Given the description of an element on the screen output the (x, y) to click on. 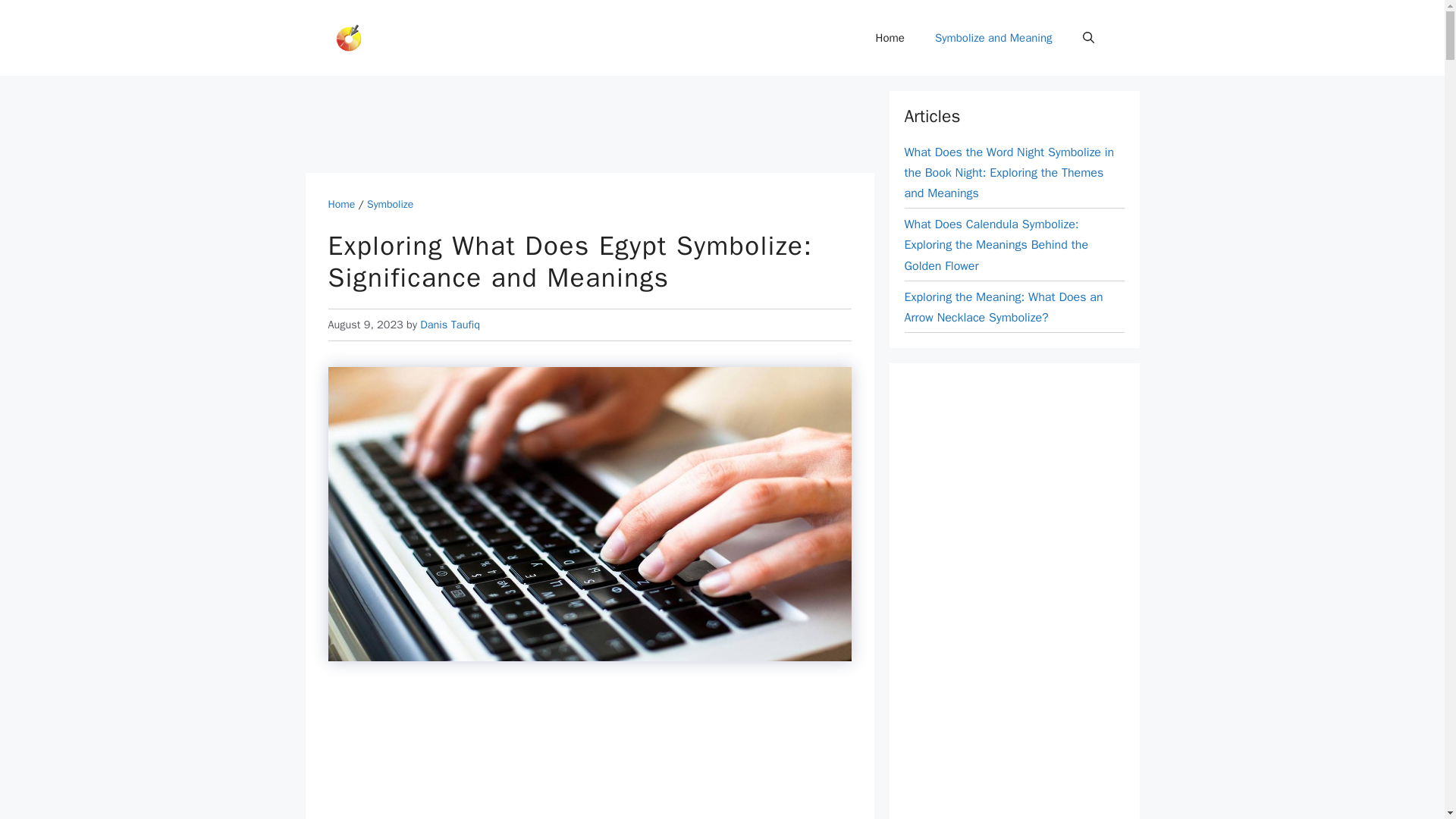
Advertisement (580, 124)
Advertisement (589, 753)
Symbolize (389, 204)
Symbolize and Meaning (993, 37)
Home (341, 204)
Home (890, 37)
View all posts by Danis Taufiq (450, 324)
Danis Taufiq (450, 324)
